Given the description of an element on the screen output the (x, y) to click on. 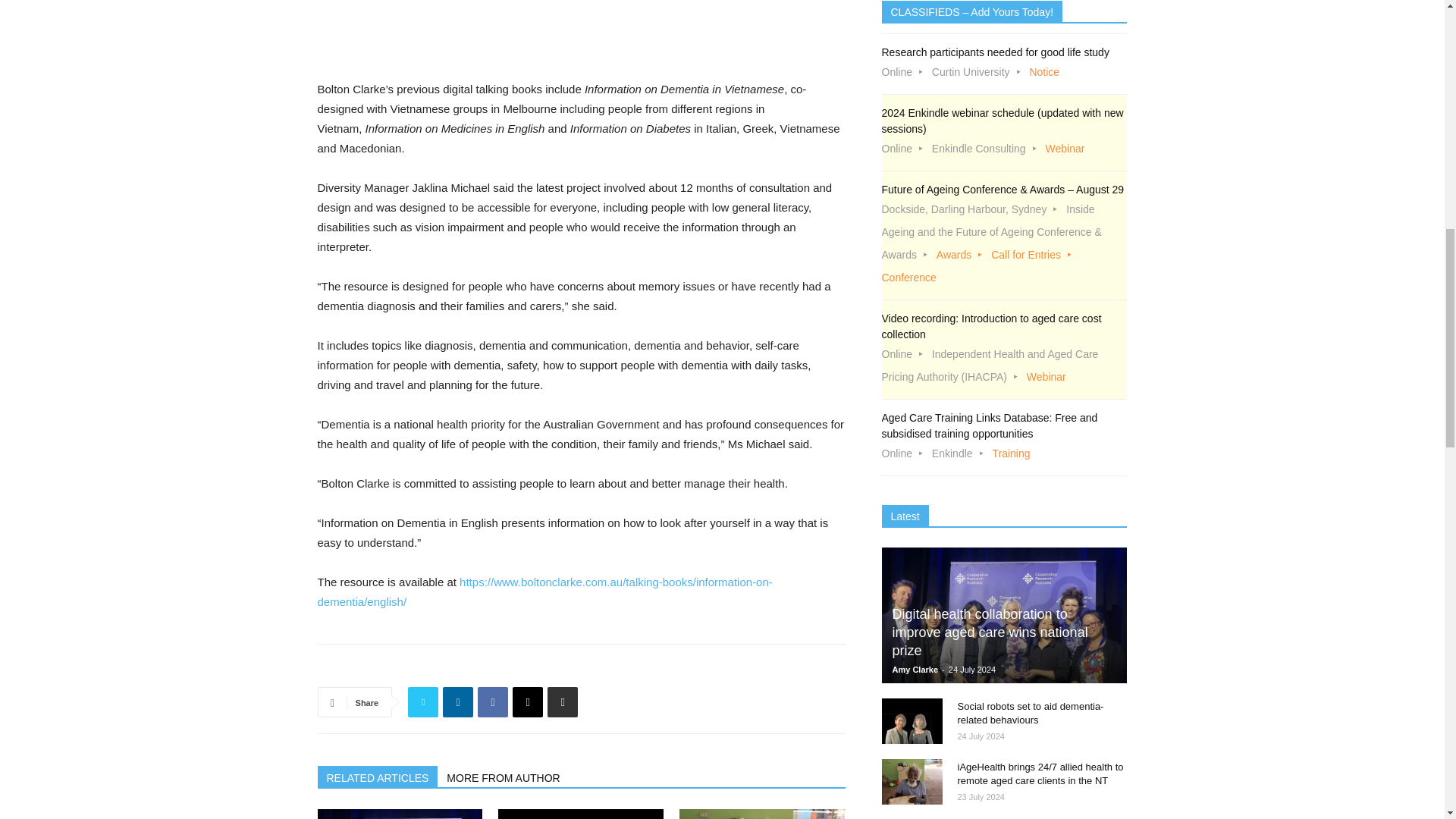
Social robots set to aid dementia-related behaviours (580, 814)
3rd party ad content (430, 39)
